Given the description of an element on the screen output the (x, y) to click on. 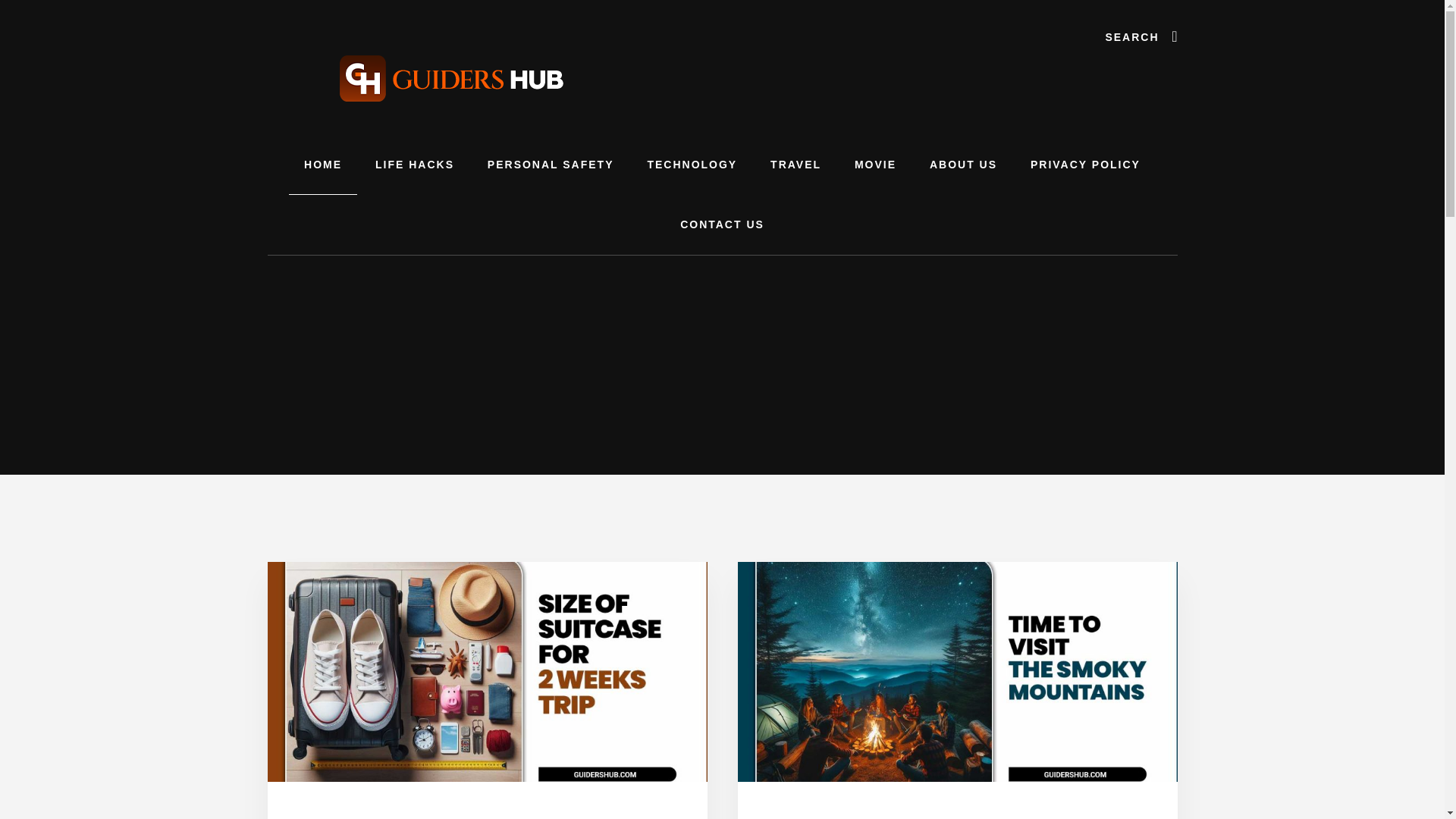
HOME (322, 164)
TECHNOLOGY (691, 164)
PERSONAL SAFETY (549, 164)
PRIVACY POLICY (1085, 164)
TRAVEL (795, 164)
Advertisement (721, 575)
CONTACT US (721, 224)
MOVIE (875, 164)
